Given the description of an element on the screen output the (x, y) to click on. 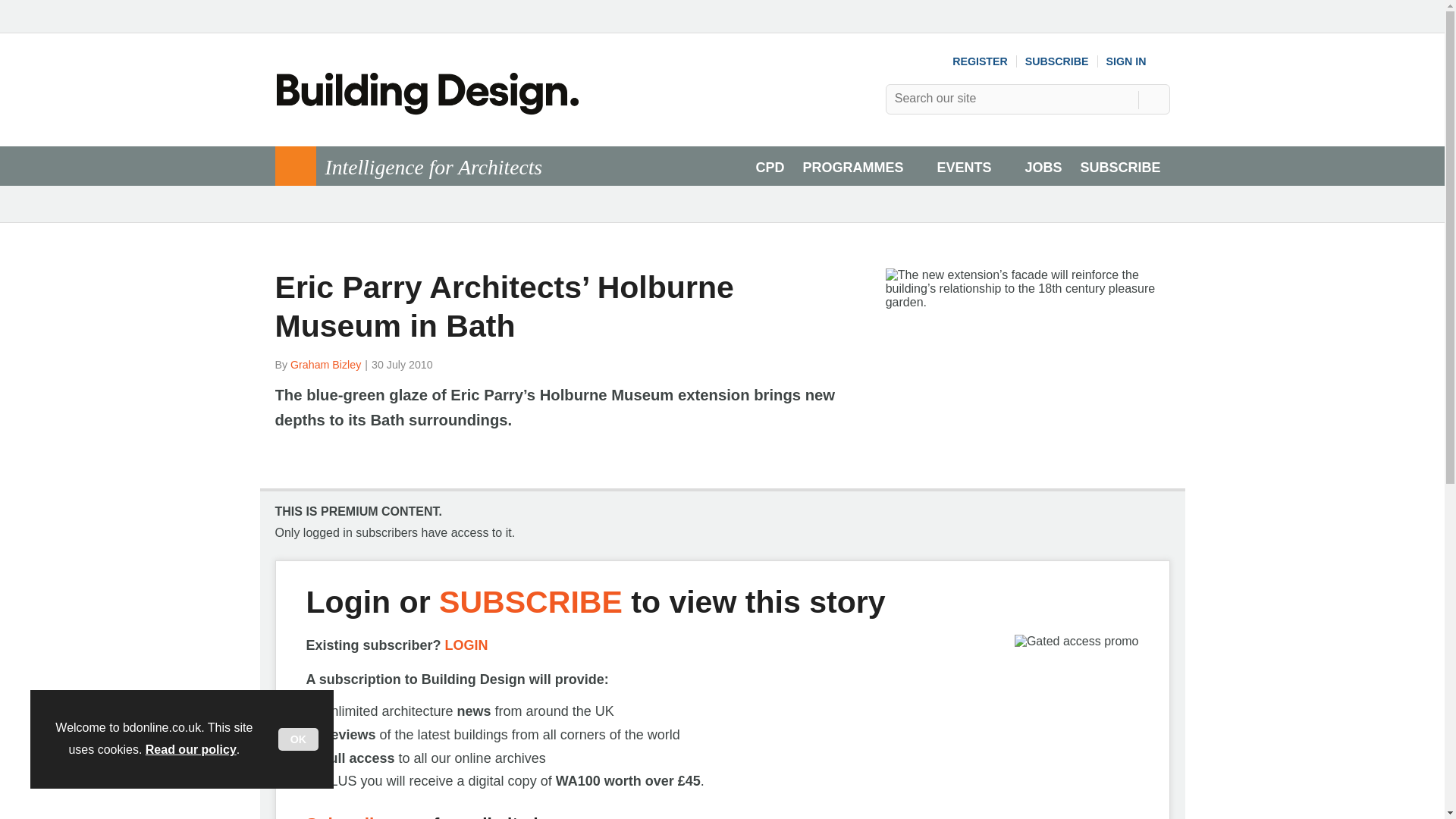
SIGN IN (1138, 61)
SUBSCRIBE (1057, 61)
OK (298, 739)
SEARCH (1153, 98)
REGISTER (979, 61)
Read our policy (190, 748)
